Given the description of an element on the screen output the (x, y) to click on. 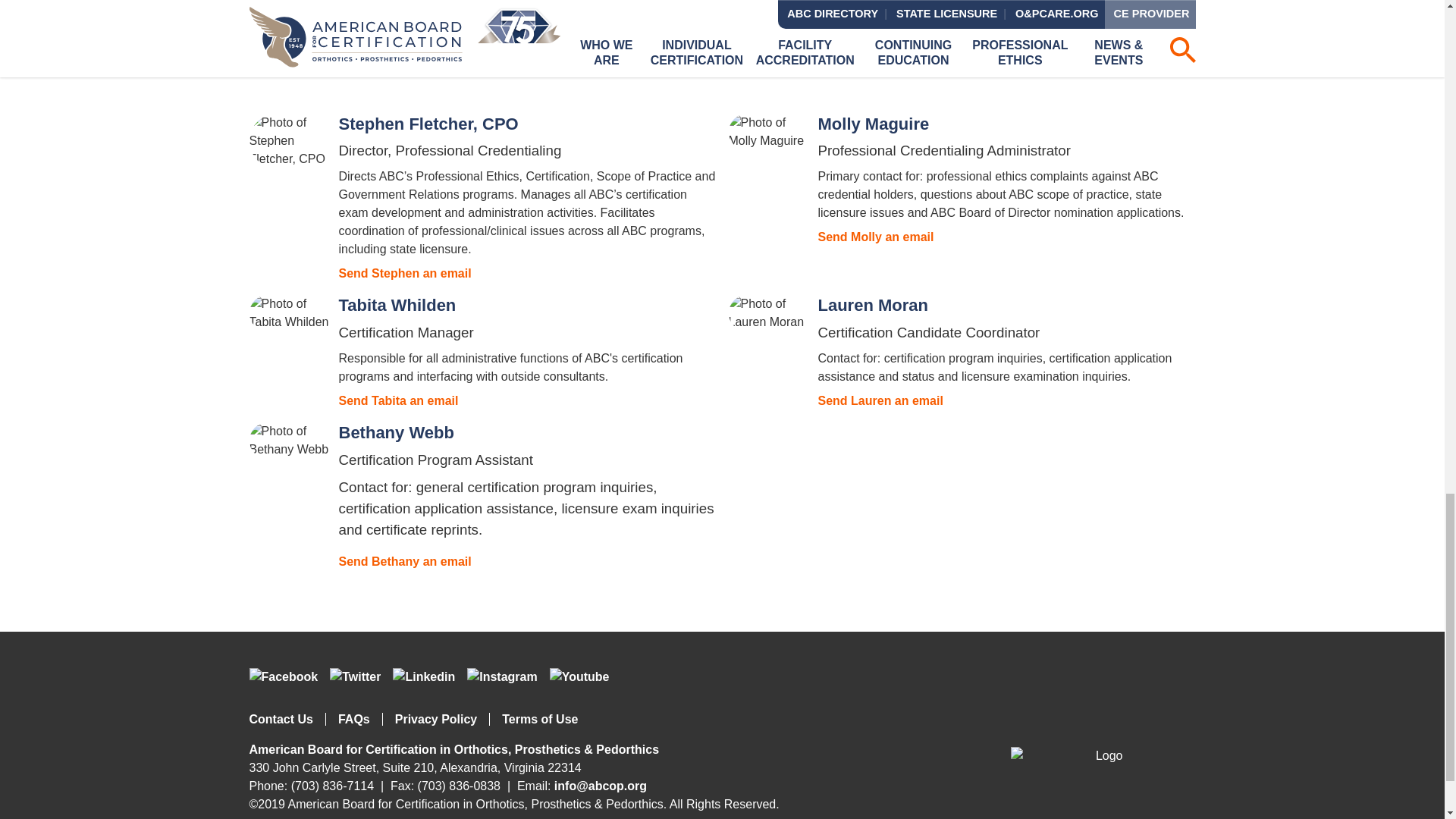
Logo (1102, 755)
